Given the description of an element on the screen output the (x, y) to click on. 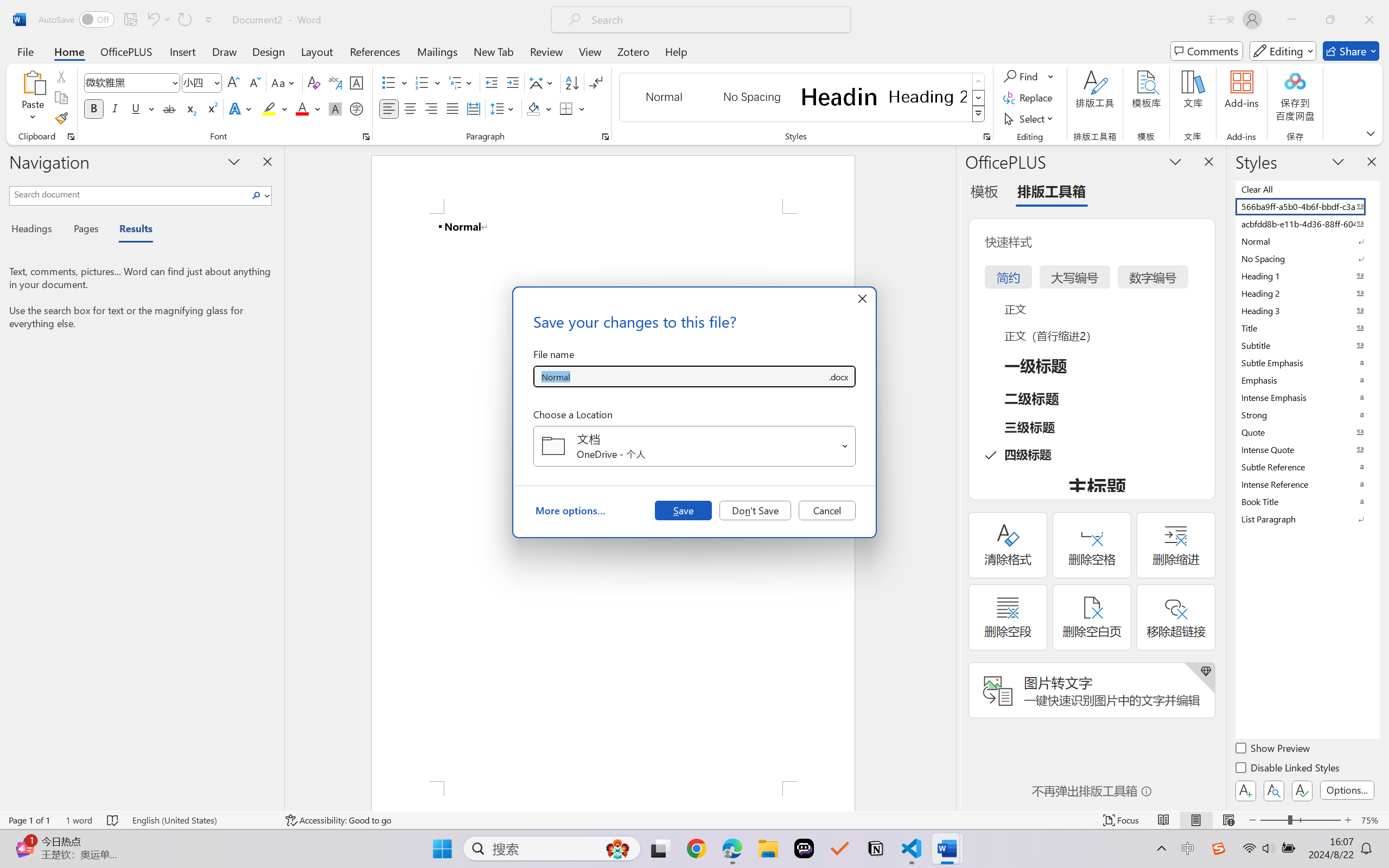
acbfdd8b-e11b-4d36-88ff-6049b138f862 (1306, 223)
Quick Access Toolbar (127, 19)
Align Left (388, 108)
Text Highlight Color Yellow (269, 108)
Print Layout (1196, 819)
Line and Paragraph Spacing (503, 108)
Find (1022, 75)
Focus  (1121, 819)
Clear All (1306, 188)
Borders (566, 108)
Styles... (986, 136)
